Given the description of an element on the screen output the (x, y) to click on. 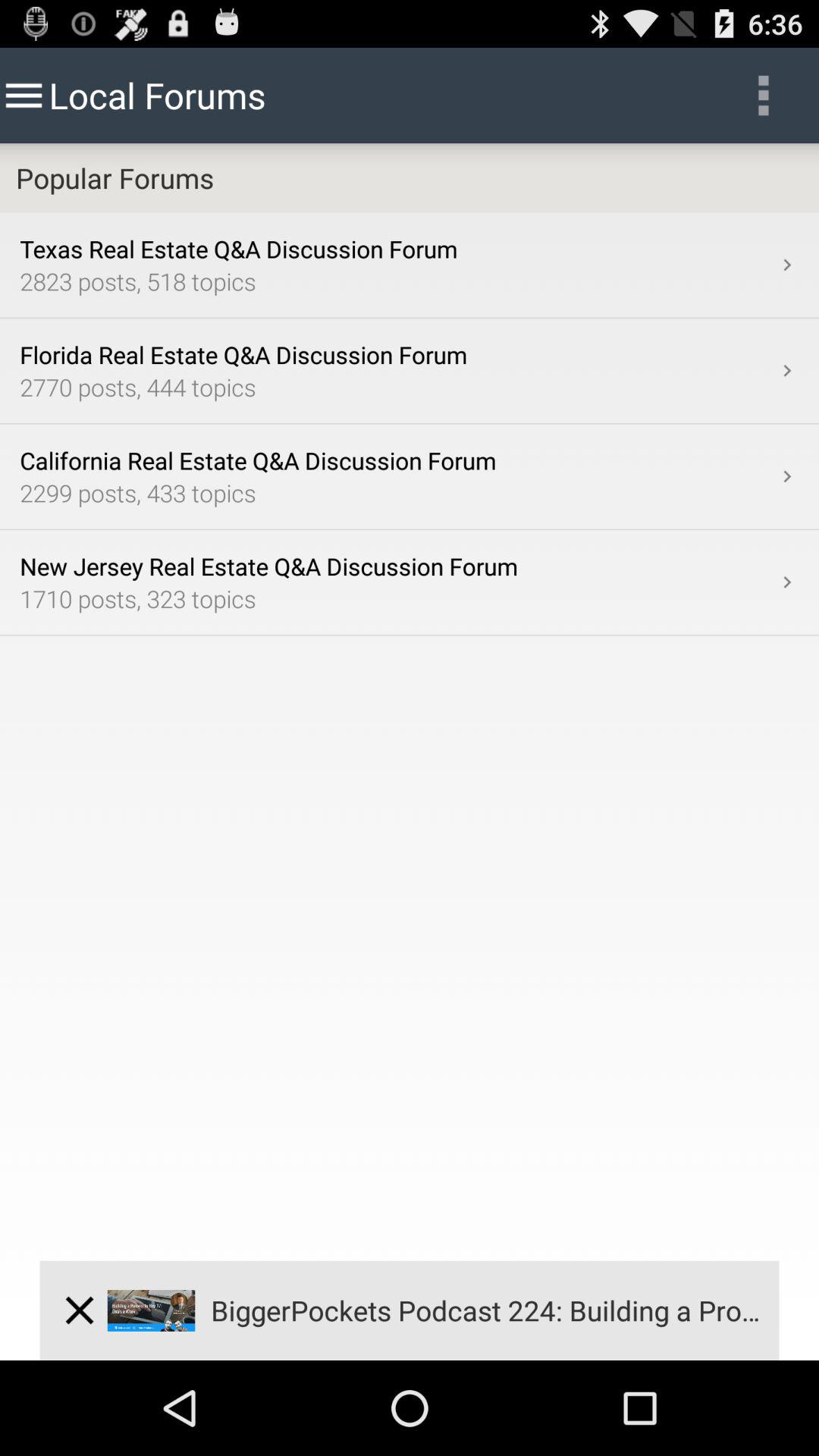
press the 2299 posts 433 icon (397, 492)
